Given the description of an element on the screen output the (x, y) to click on. 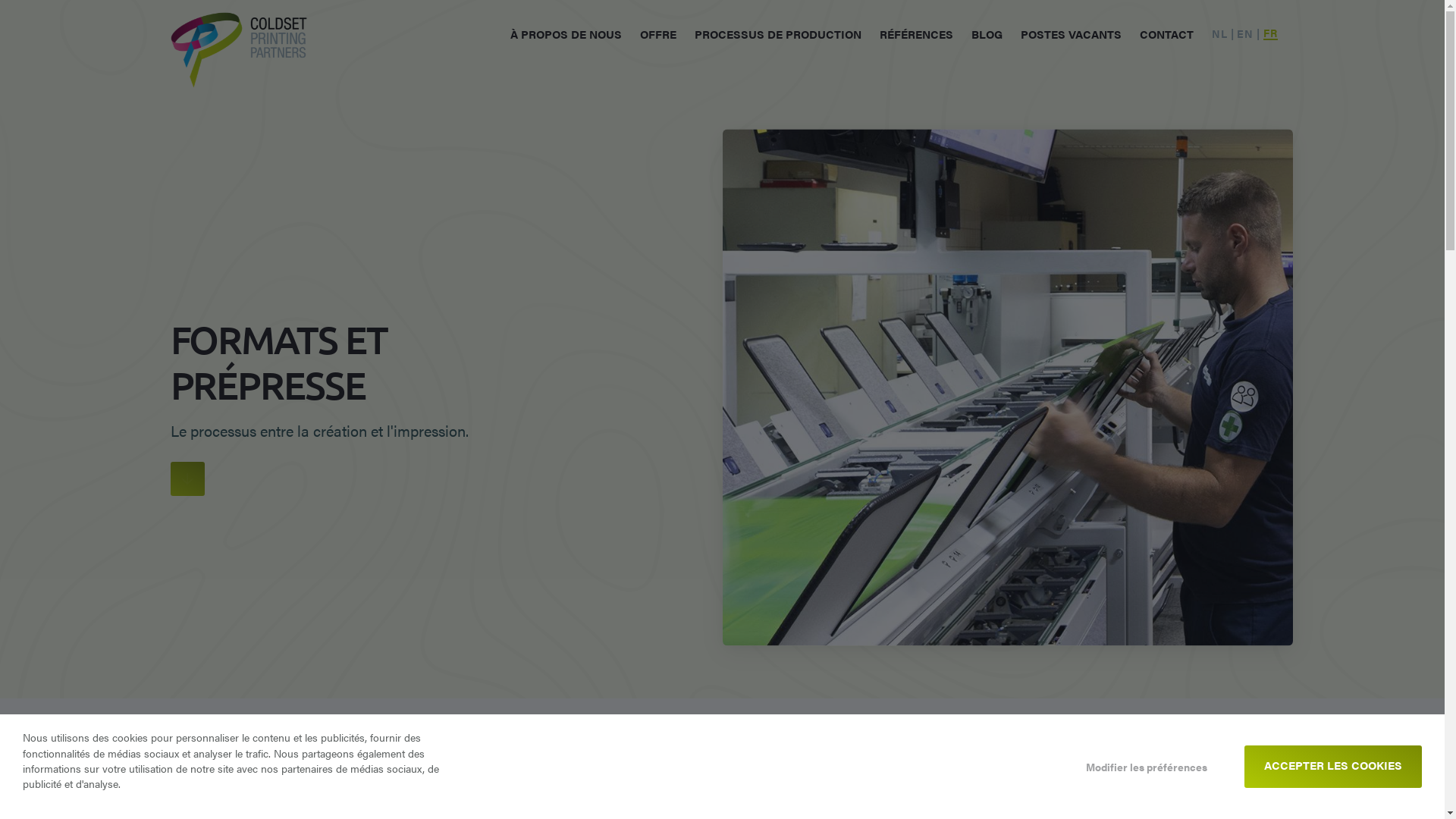
BLOG Element type: text (986, 33)
POSTES VACANTS Element type: text (1070, 33)
PROCESSUS DE PRODUCTION Element type: text (777, 33)
CONTACT Element type: text (1166, 33)
OFFRE Element type: text (658, 33)
NL Element type: text (1219, 33)
EN Element type: text (1244, 33)
